Given the description of an element on the screen output the (x, y) to click on. 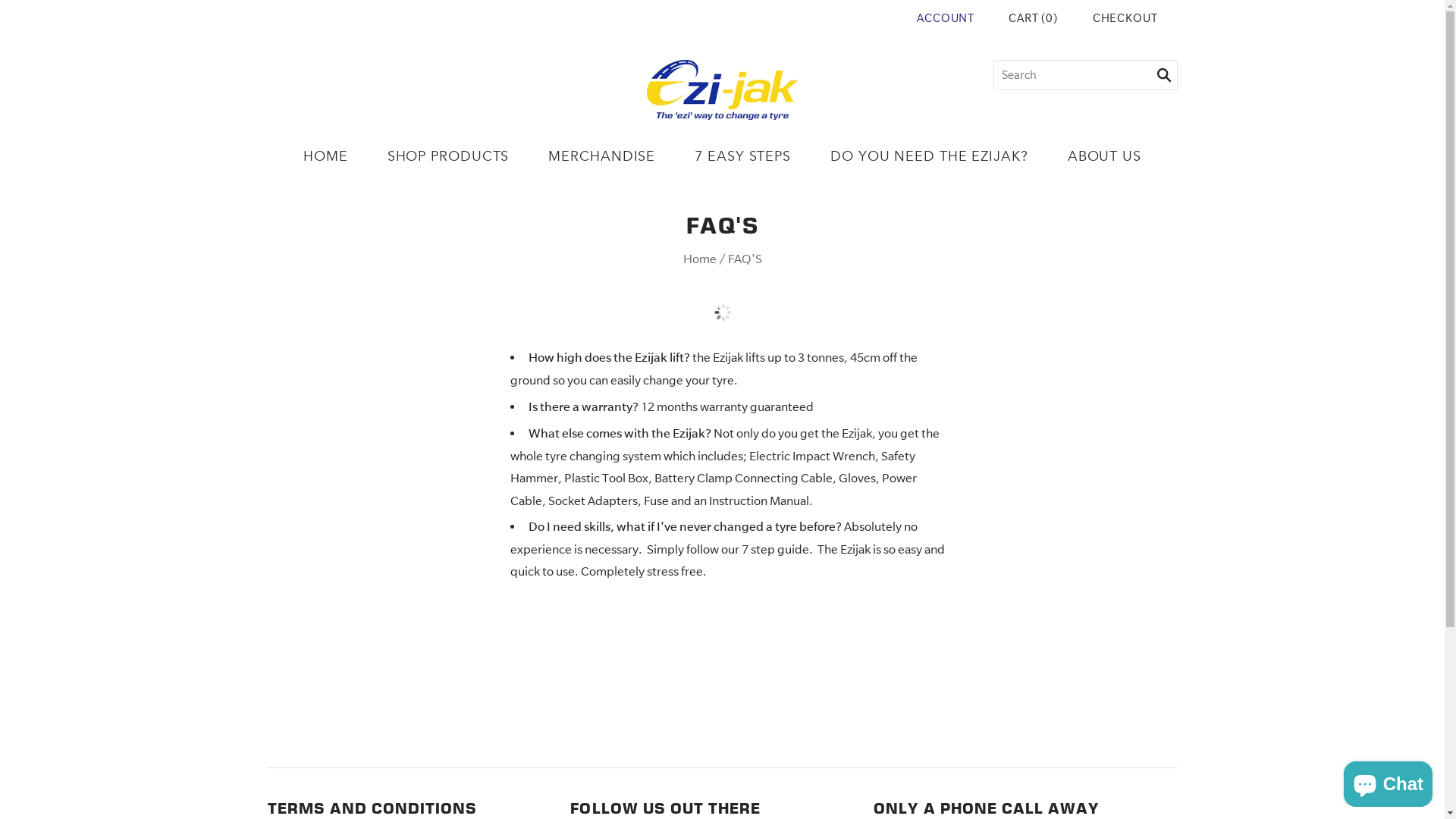
ABOUT US Element type: text (1104, 156)
CART (0) Element type: text (1032, 18)
7 EASY STEPS Element type: text (742, 156)
MERCHANDISE Element type: text (601, 156)
ACCOUNT Element type: text (945, 18)
Home Element type: text (698, 258)
Shopify online store chat Element type: hover (1388, 780)
HOME Element type: text (325, 156)
DO YOU NEED THE EZIJAK? Element type: text (929, 156)
SHOP PRODUCTS Element type: text (448, 156)
CHECKOUT Element type: text (1125, 18)
